Given the description of an element on the screen output the (x, y) to click on. 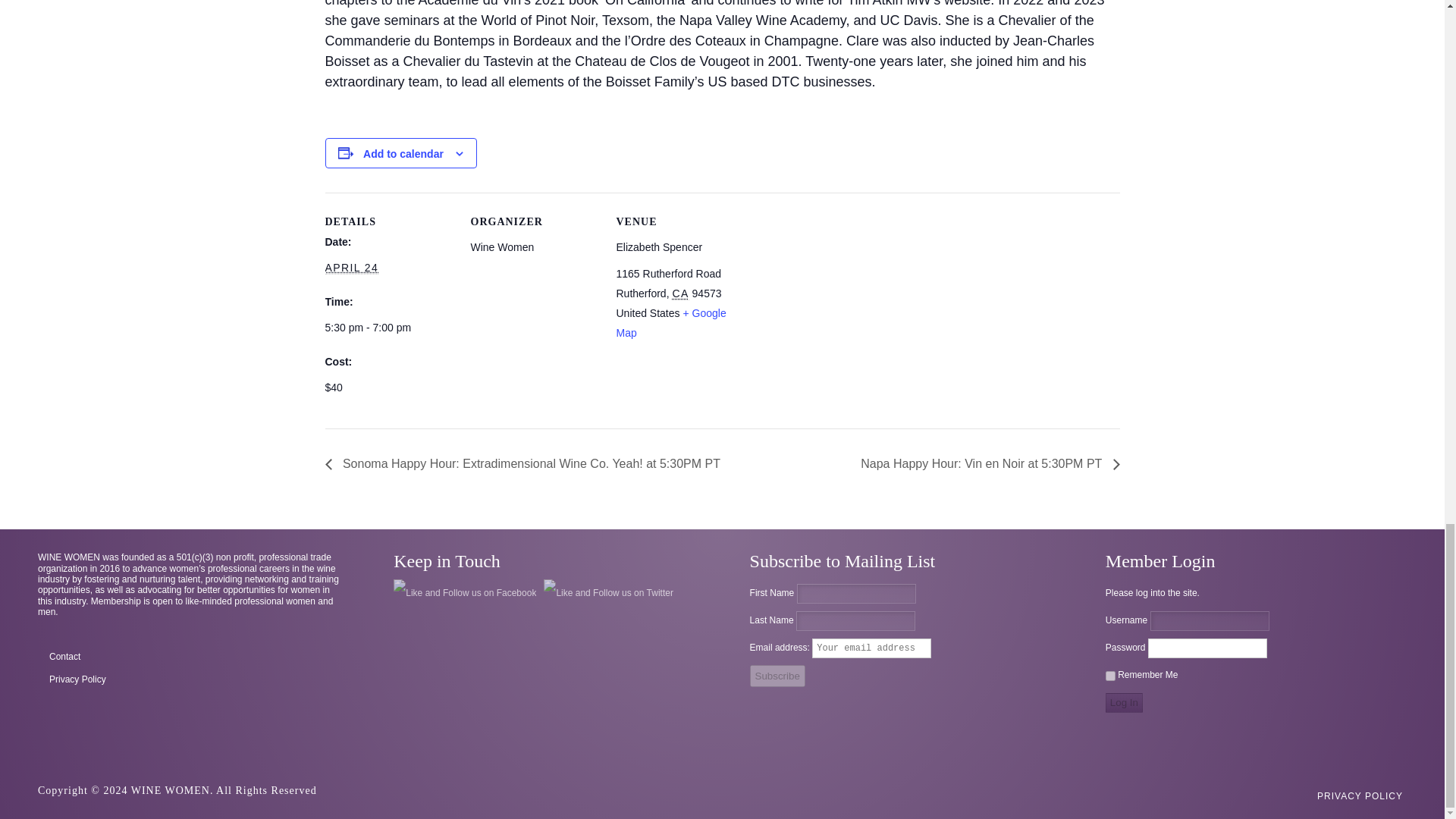
Log In (1123, 701)
PRIVACY POLICY (1359, 795)
Click to view a Google Map (670, 323)
2024-04-24 (387, 327)
Like and Follow us on Twitter (607, 592)
Log In (1123, 701)
Subscribe (777, 676)
Like and Follow us on Facebook (464, 592)
